Given the description of an element on the screen output the (x, y) to click on. 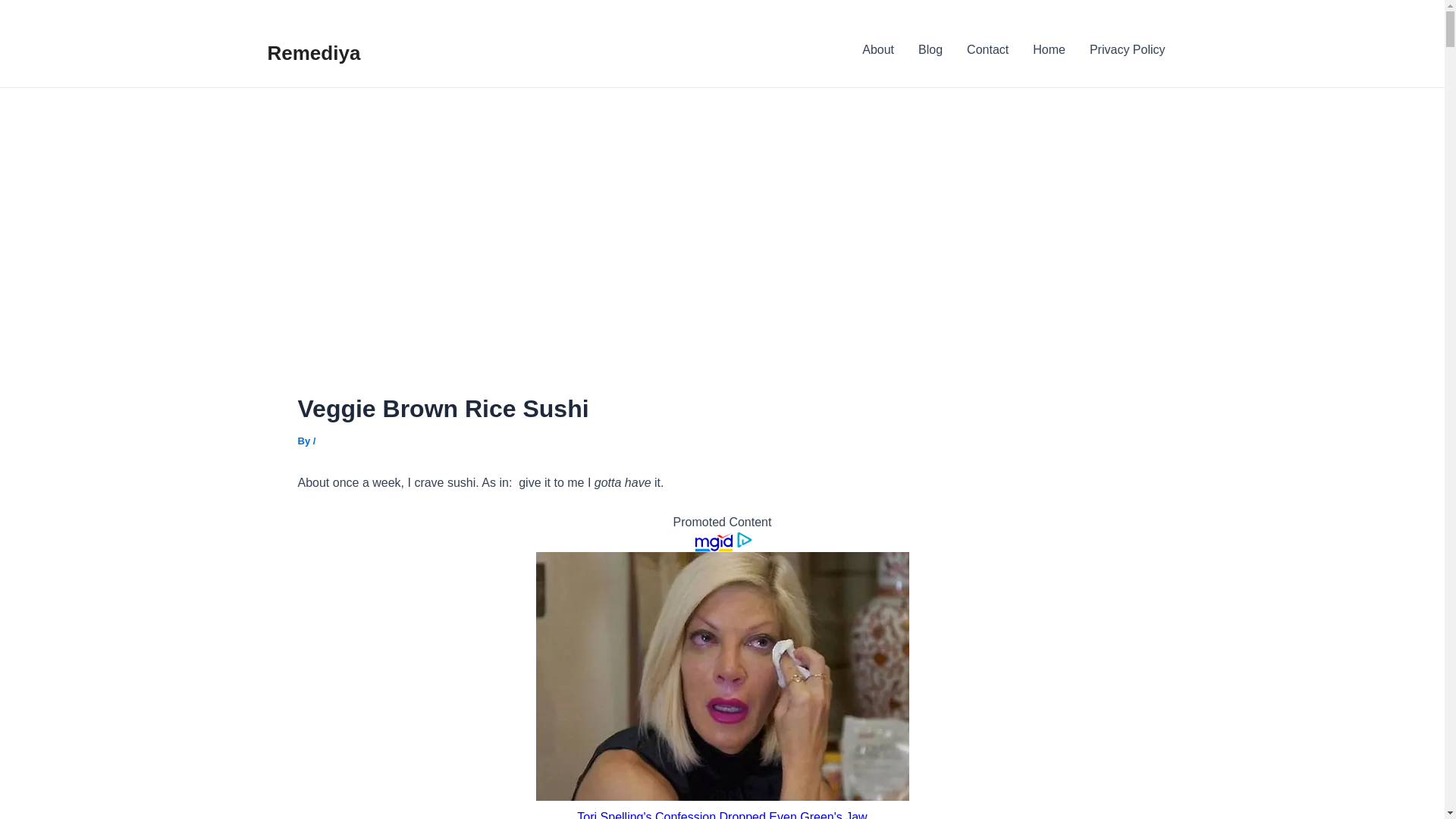
Home (1048, 49)
Privacy Policy (1127, 49)
About (877, 49)
Contact (987, 49)
Remediya (312, 52)
